Given the description of an element on the screen output the (x, y) to click on. 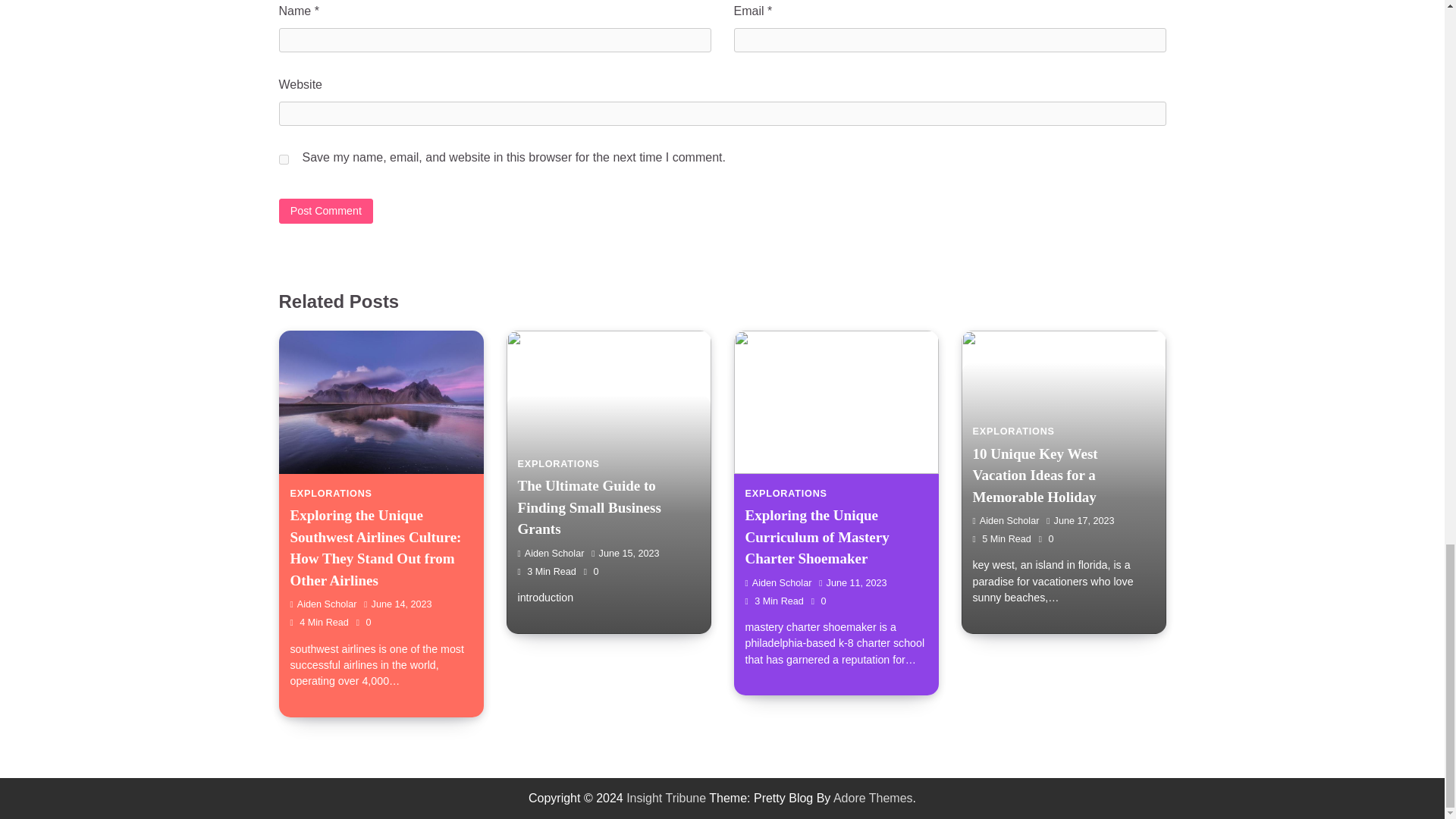
Aiden Scholar (1005, 520)
Post Comment (326, 211)
The Ultimate Guide to Finding Small Business Grants (588, 507)
EXPLORATIONS (1013, 430)
Exploring the Unique Curriculum of Mastery Charter Shoemaker (816, 536)
Aiden Scholar (322, 603)
Adore Themes (872, 797)
Post Comment (326, 211)
Aiden Scholar (549, 552)
